Given the description of an element on the screen output the (x, y) to click on. 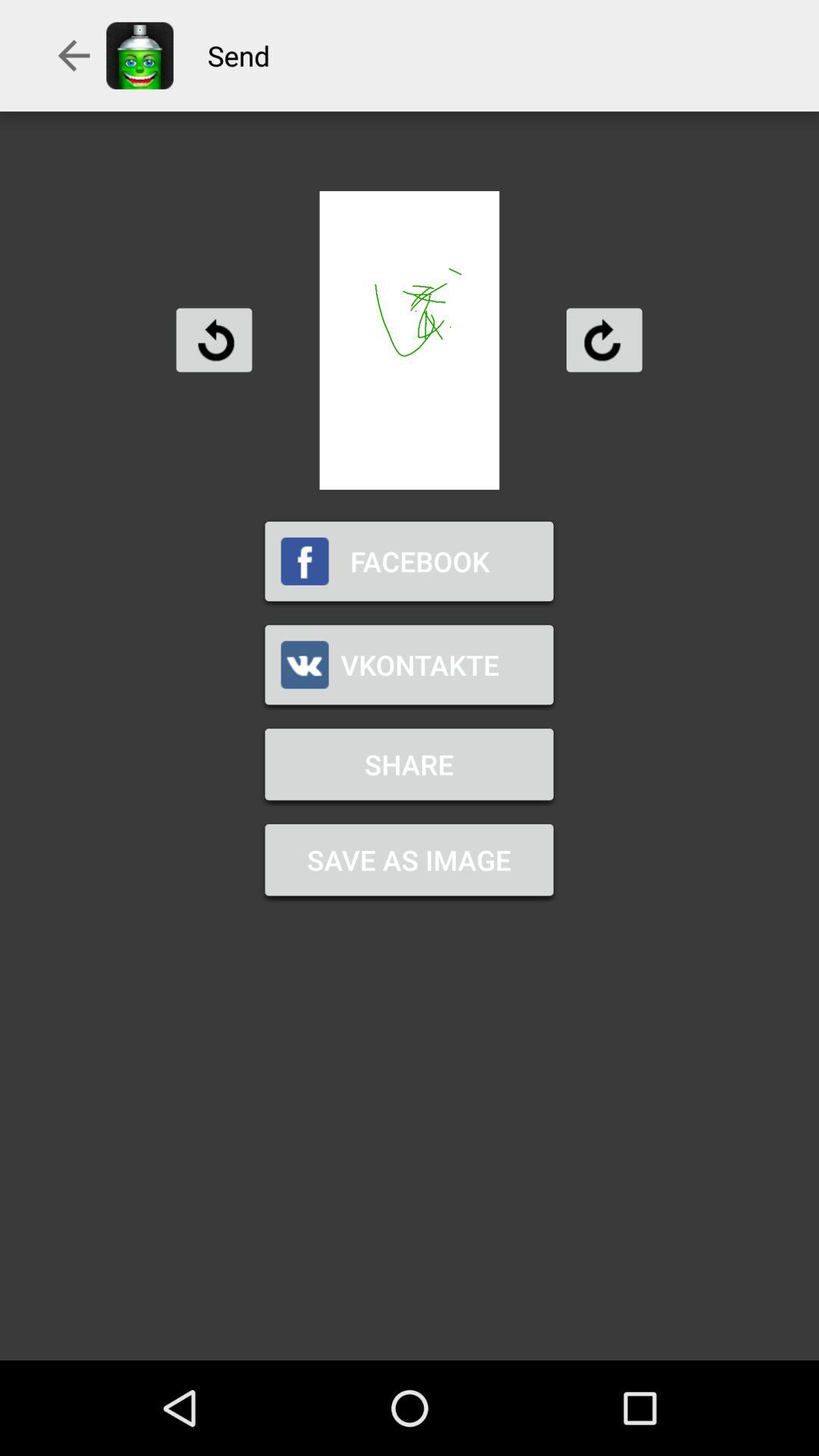
rotate right (604, 339)
